Given the description of an element on the screen output the (x, y) to click on. 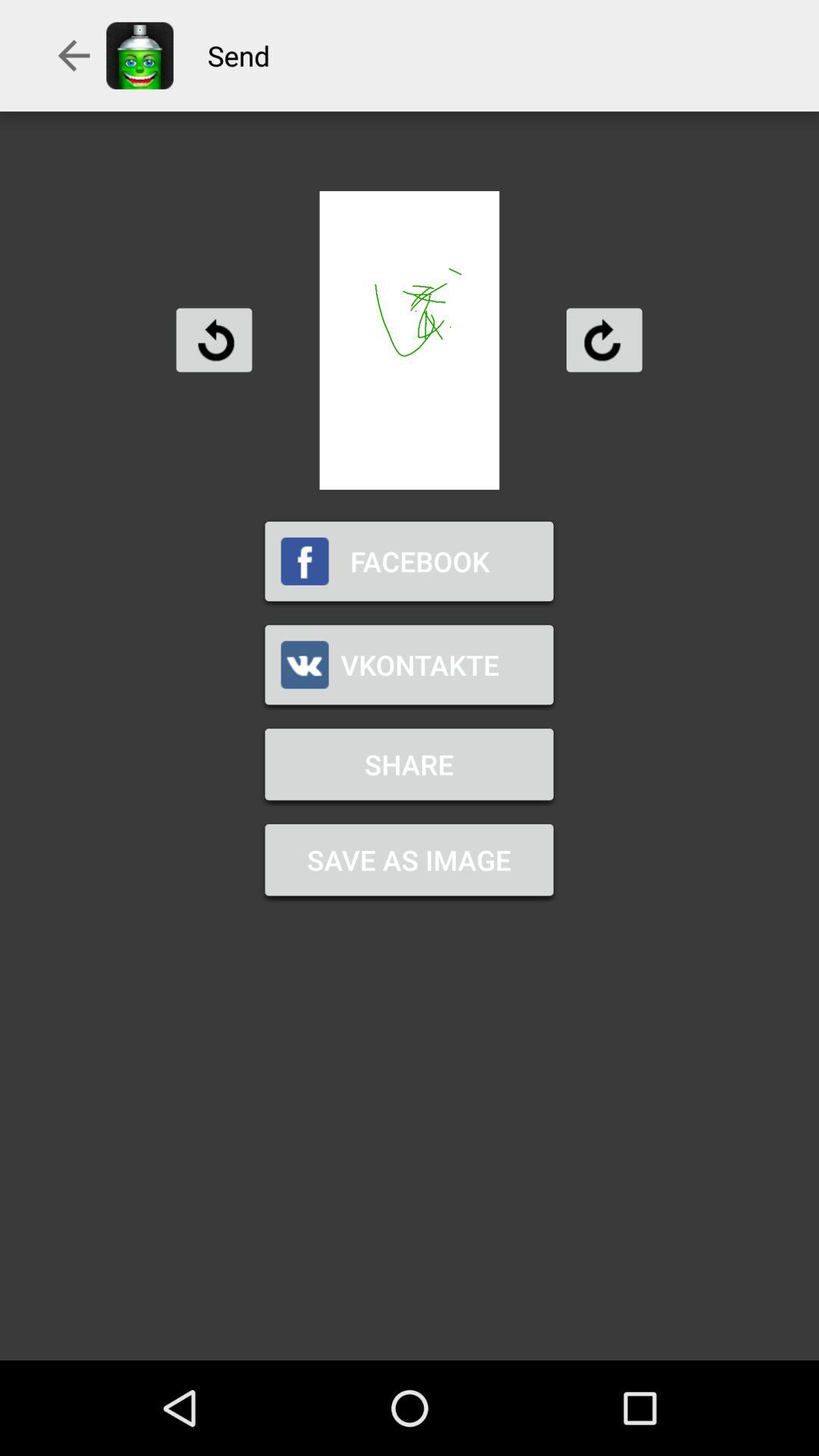
rotate right (604, 339)
